Given the description of an element on the screen output the (x, y) to click on. 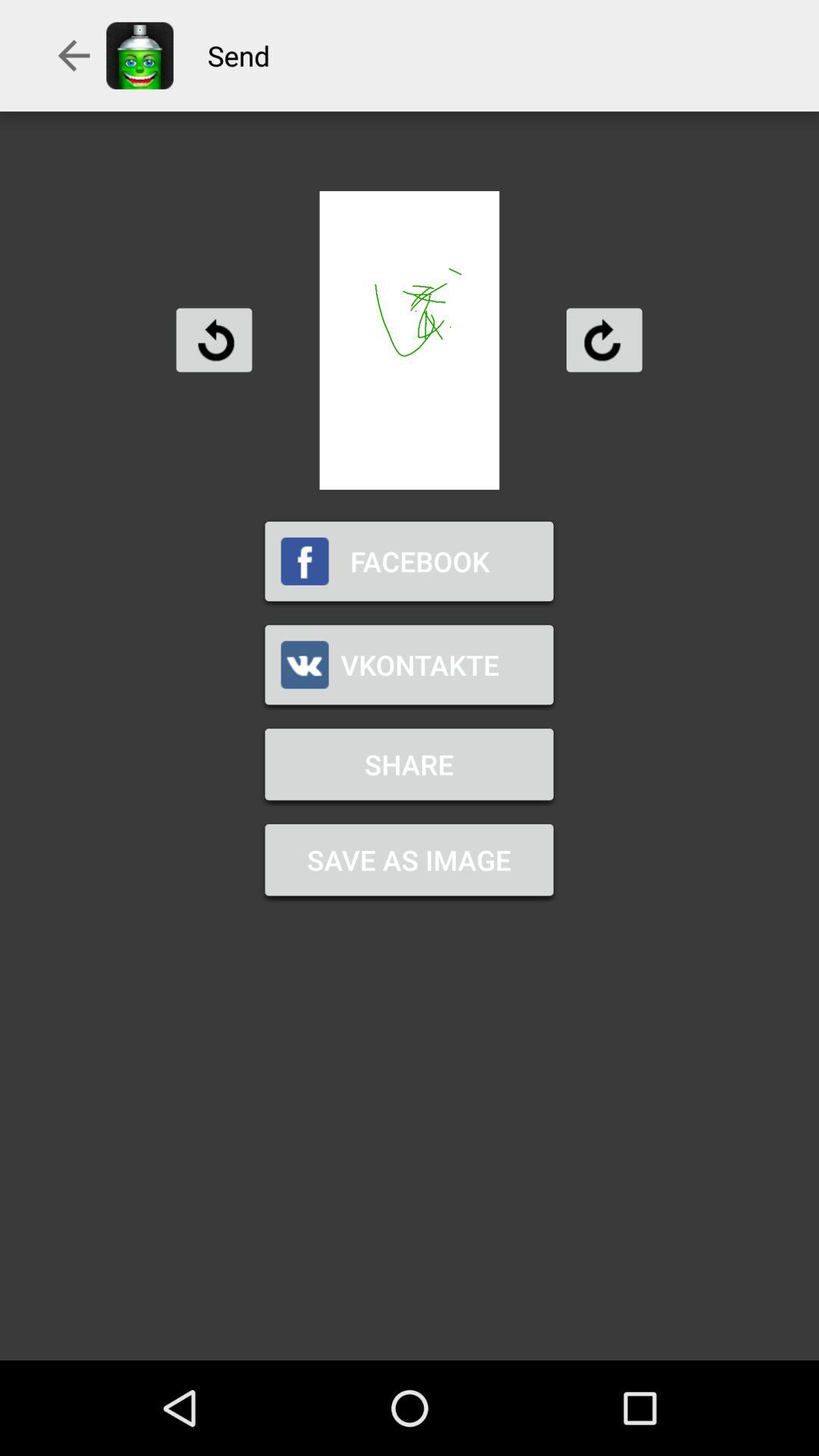
rotate right (604, 339)
